Given the description of an element on the screen output the (x, y) to click on. 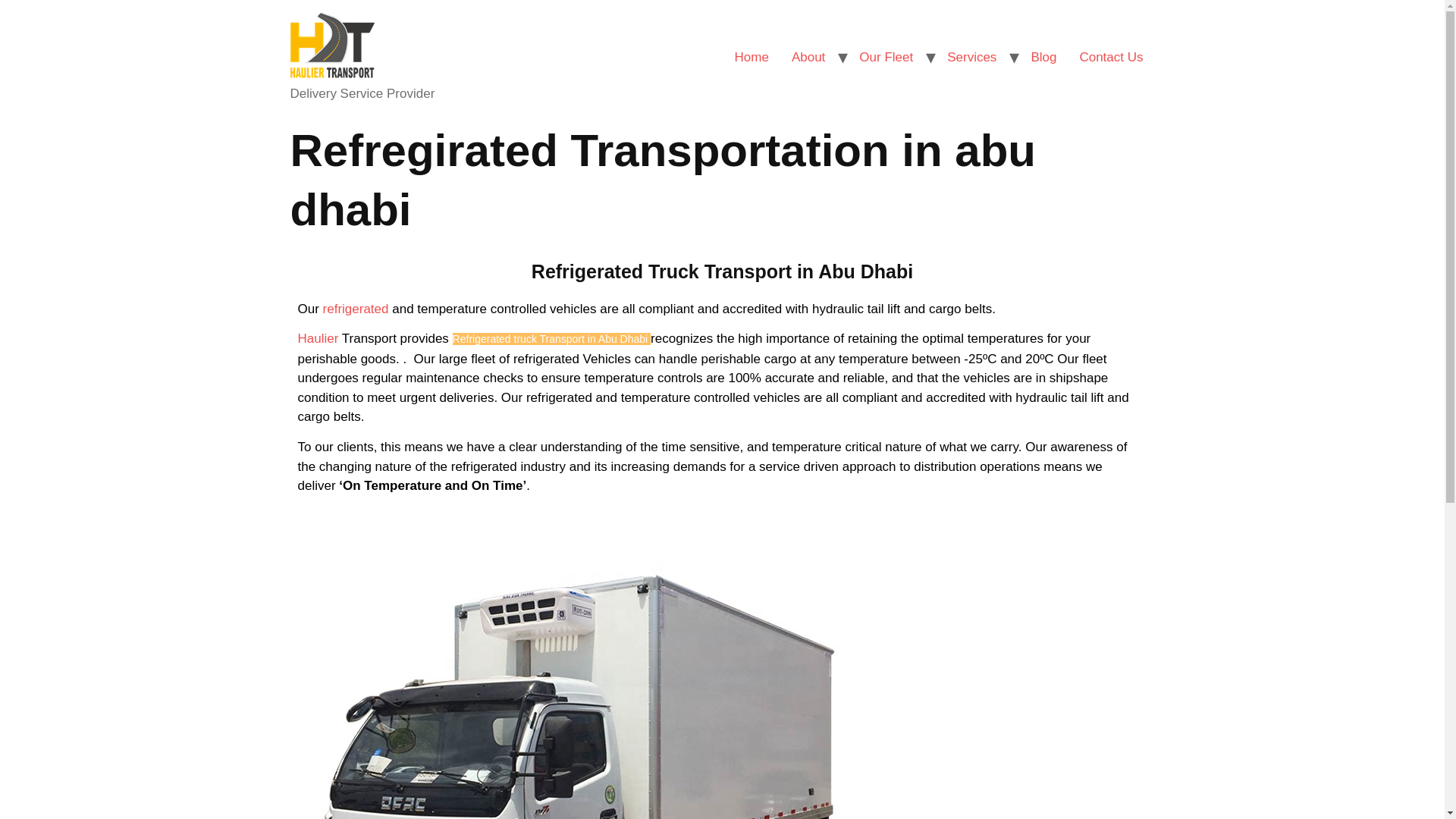
Home (751, 57)
About (807, 57)
Services (971, 57)
Blog (1043, 57)
Our Fleet (885, 57)
Contact Us (1110, 57)
